Given the description of an element on the screen output the (x, y) to click on. 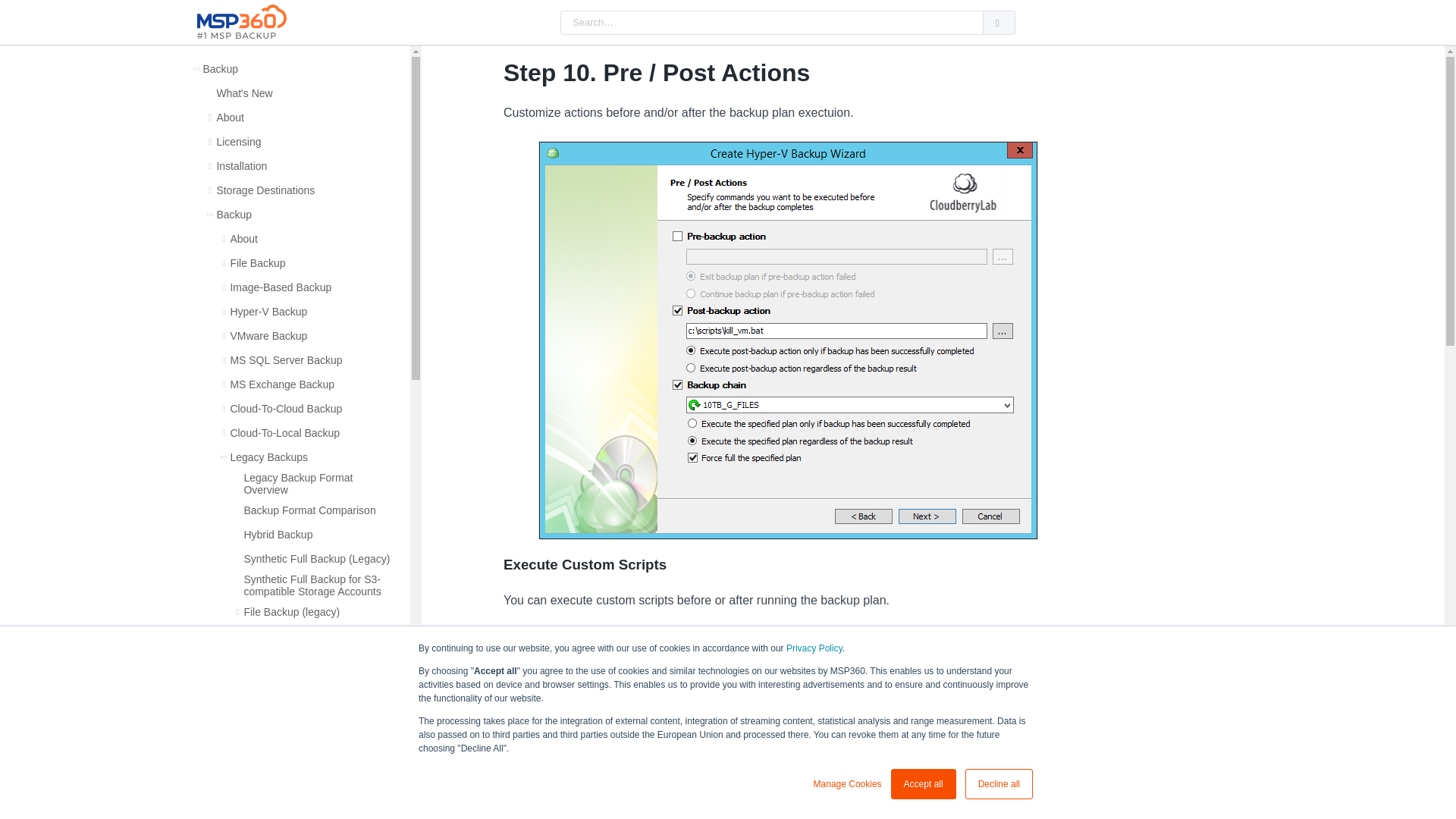
Licensing (237, 141)
Cloud-To-Cloud Backup (286, 408)
System State Backup (294, 660)
File Backup (257, 263)
Hyper-V Backup (268, 311)
Decline all (998, 784)
VMware Backup (268, 336)
Backup (220, 69)
Privacy Policy (814, 647)
Installation (240, 165)
Accept all (923, 784)
Legacy Backups (268, 457)
Image-Based Backup (280, 287)
Hybrid Backup (278, 534)
Synthetic Full Backup for S3-compatible Storage Accounts (318, 585)
